Given the description of an element on the screen output the (x, y) to click on. 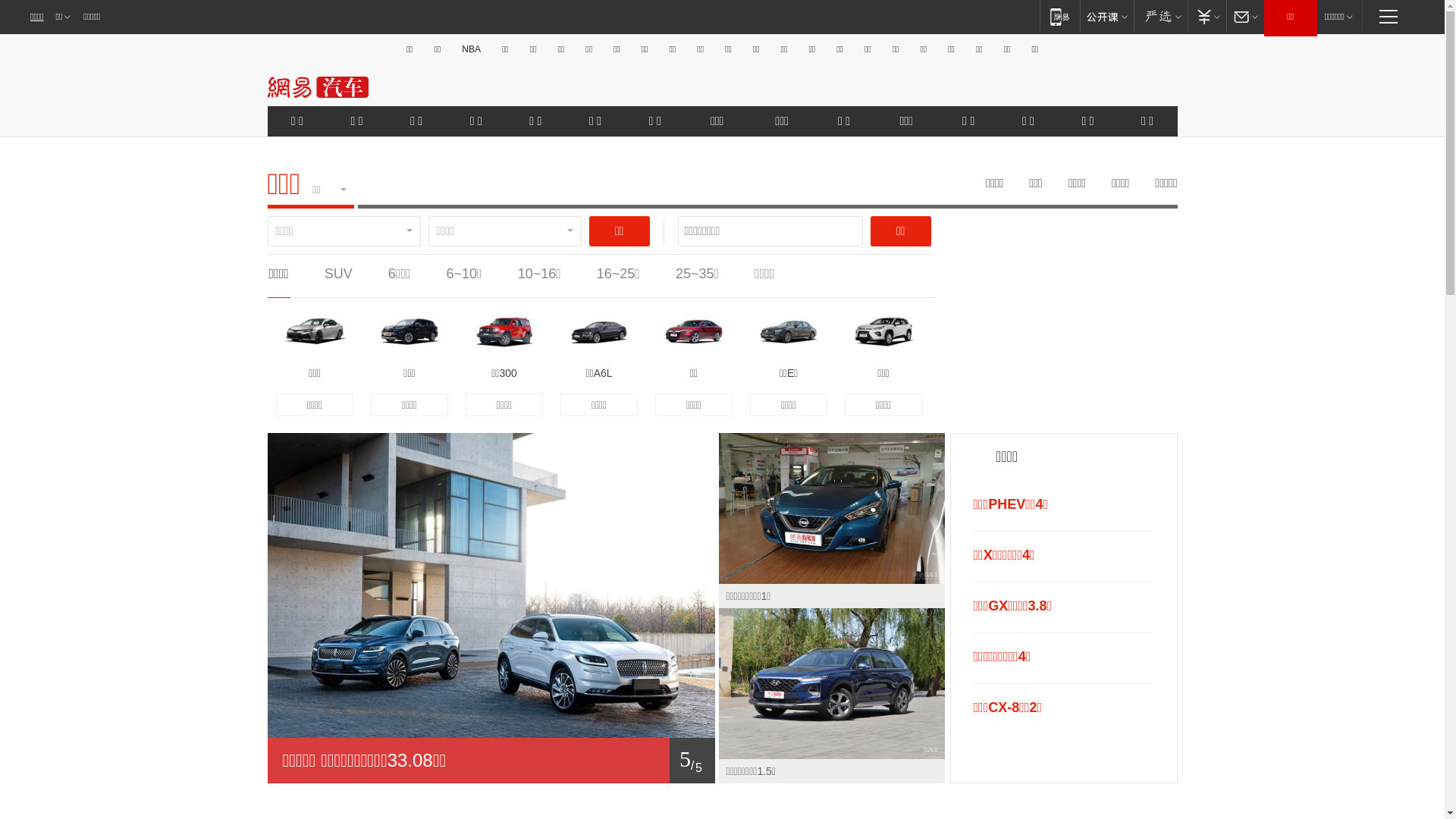
SUV Element type: text (338, 273)
1/ 5 Element type: text (490, 760)
NBA Element type: text (471, 48)
